Given the description of an element on the screen output the (x, y) to click on. 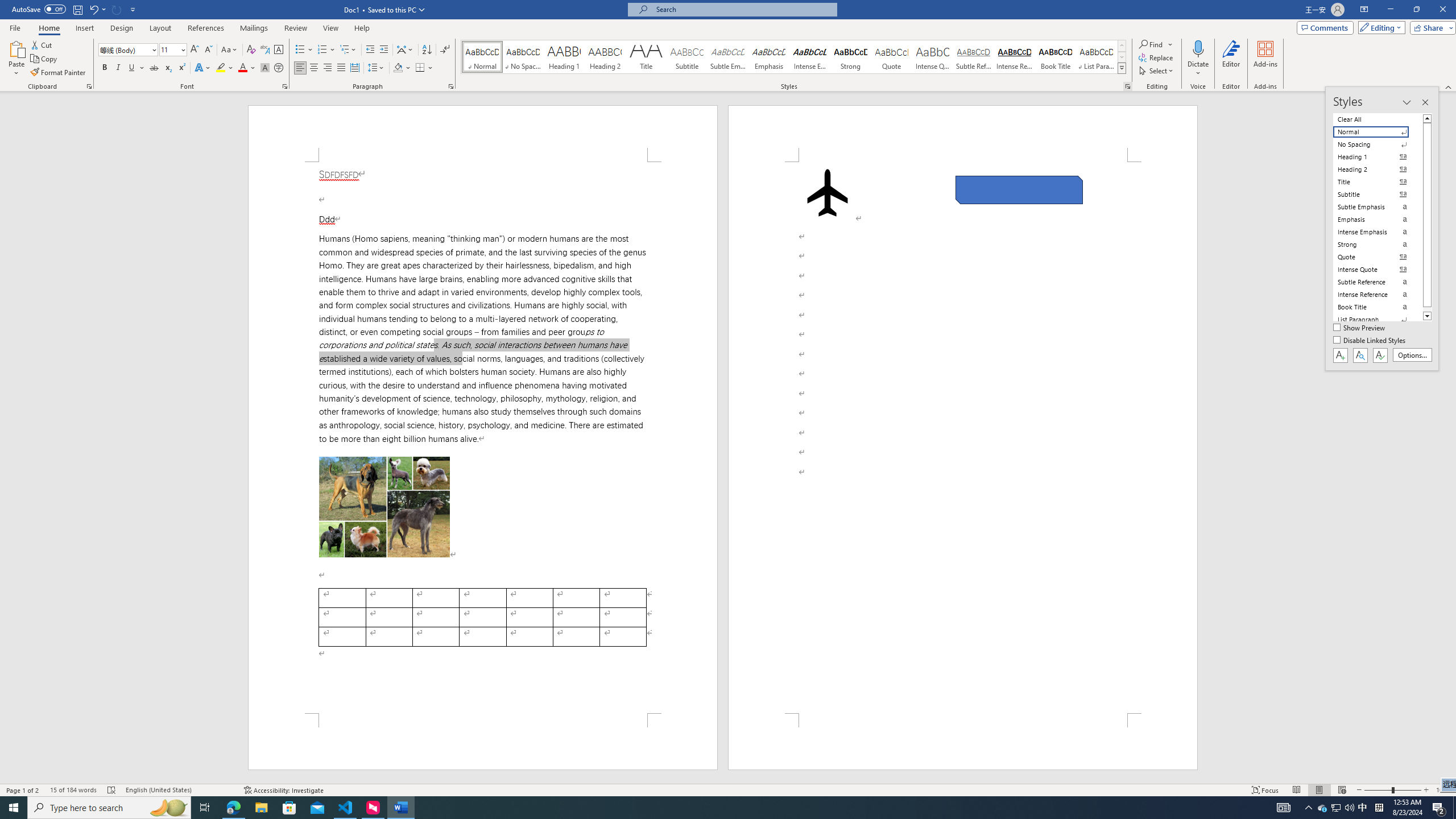
Book Title (1055, 56)
Focus  (1265, 790)
Review (295, 28)
Ribbon Display Options (1364, 9)
Superscript (180, 67)
Accessibility Checker Accessibility: Investigate (283, 790)
Multilevel List (347, 49)
Mailings (253, 28)
No Spacing (1377, 144)
Class: NetUIImage (1121, 68)
Restore Down (1416, 9)
Zoom Out (1377, 790)
Borders (419, 67)
AutomationID: QuickStylesGallery (794, 56)
